Given the description of an element on the screen output the (x, y) to click on. 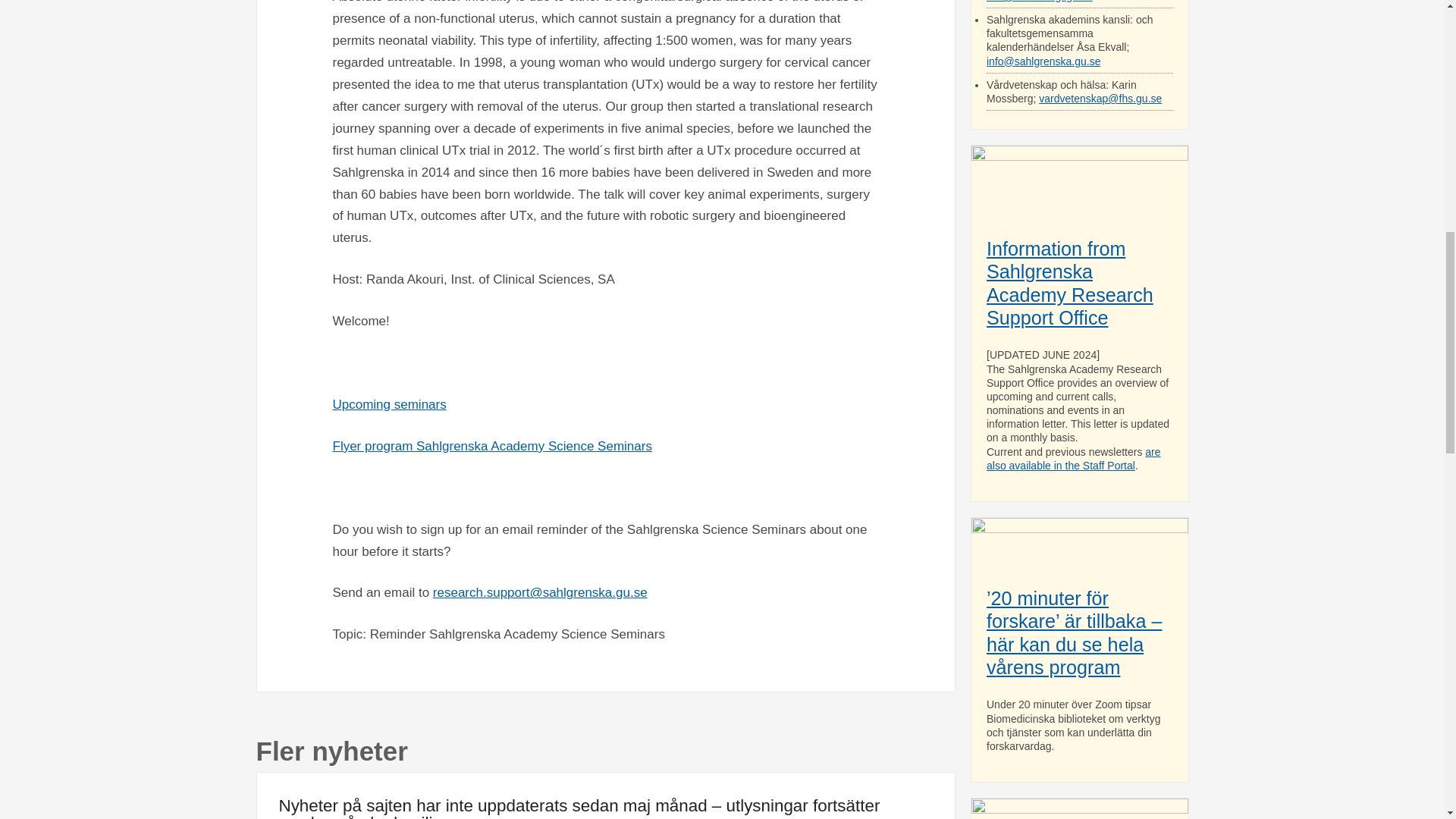
Flyer program Sahlgrenska Academy Science Seminars (490, 445)
Upcoming seminars (388, 404)
are also available in the Staff Portal (1073, 458)
Information from Sahlgrenska Academy Research Support Office (1070, 283)
